Given the description of an element on the screen output the (x, y) to click on. 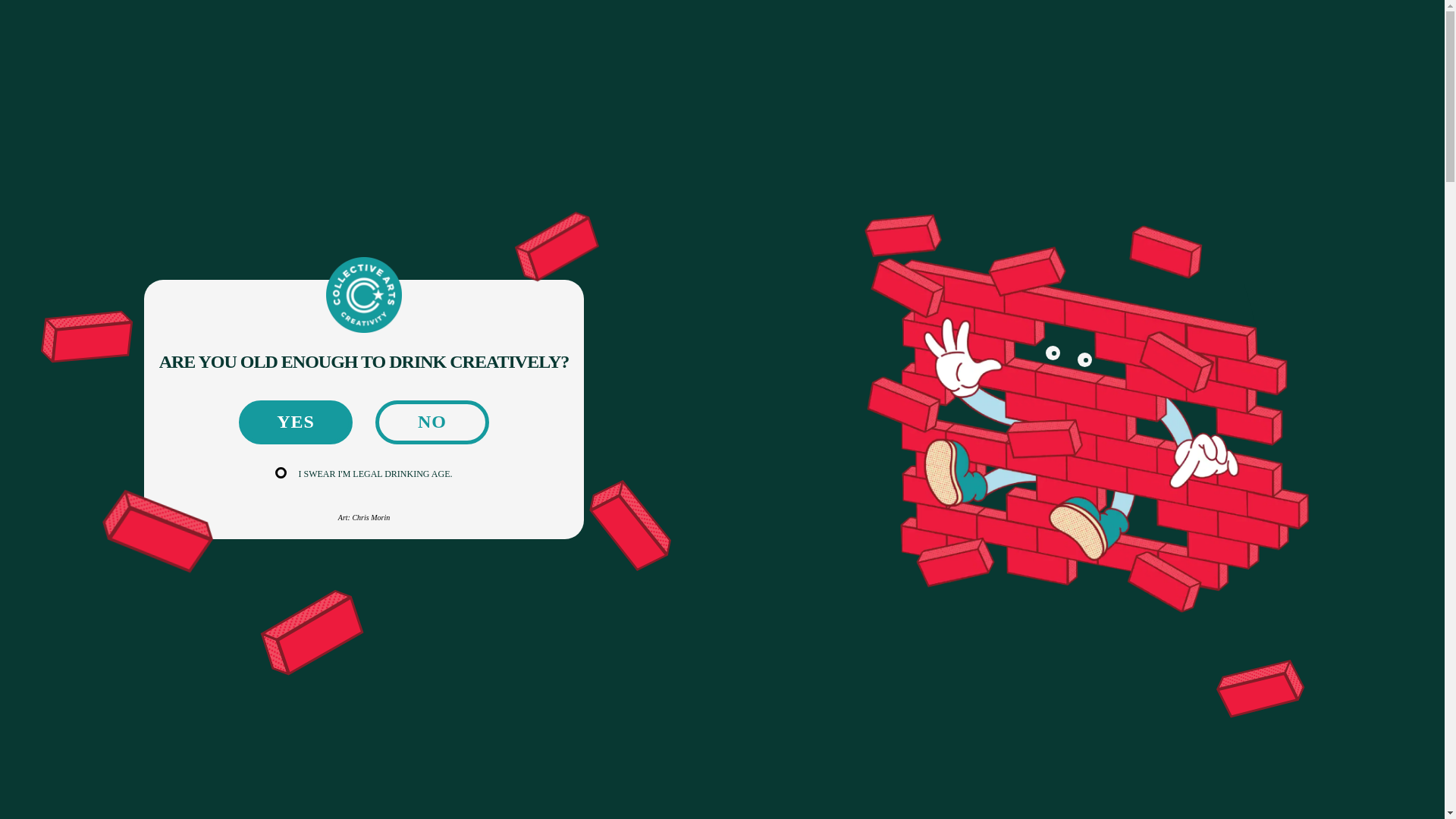
ARTISTS (438, 337)
on (282, 473)
YES (295, 422)
0 (1290, 34)
Collective Arts Brewing (721, 34)
Home (163, 96)
NO (432, 422)
Navigation (151, 34)
Newsletter (1193, 34)
